Given the description of an element on the screen output the (x, y) to click on. 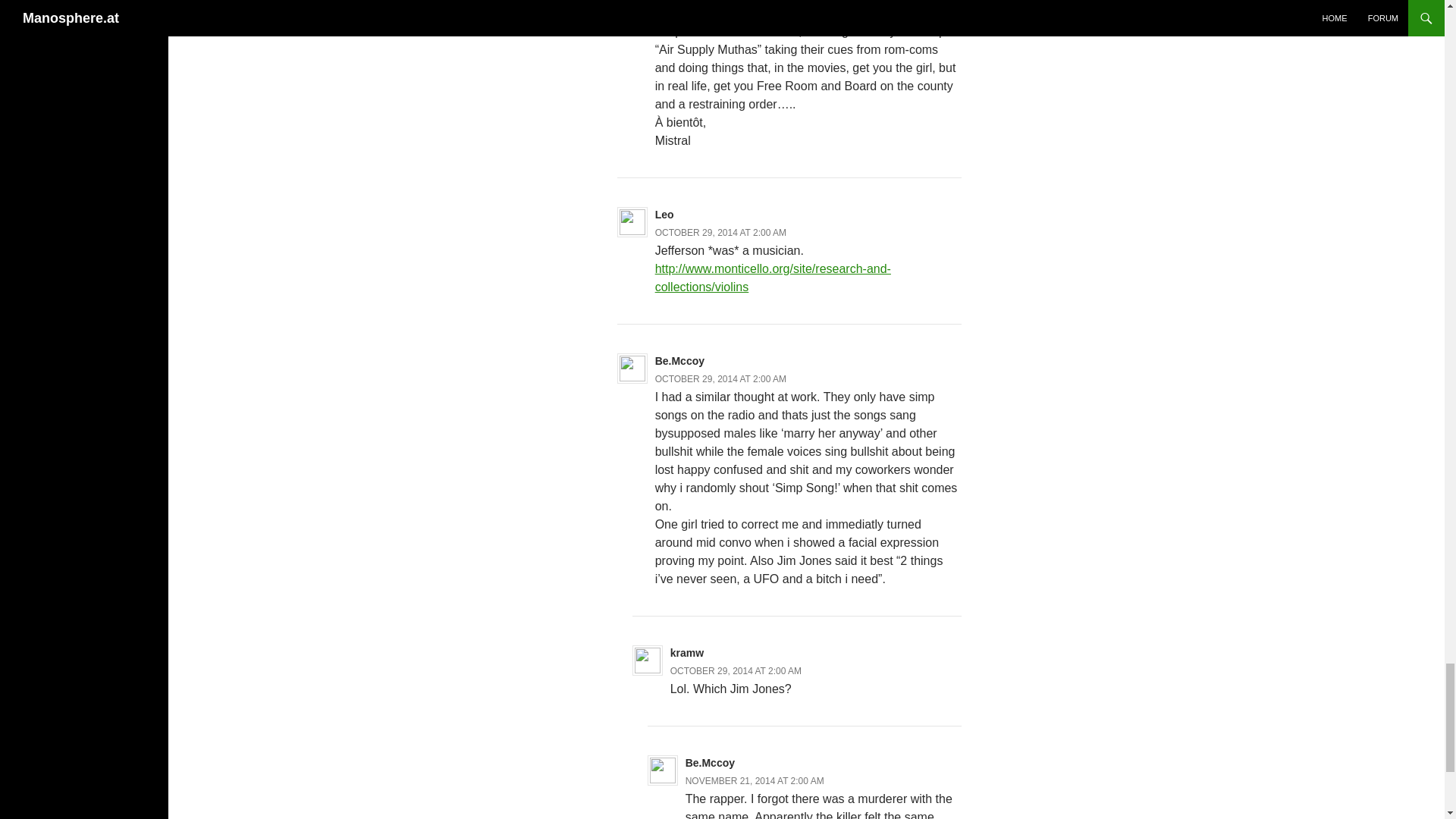
NOVEMBER 21, 2014 AT 2:00 AM (754, 779)
OCTOBER 29, 2014 AT 2:00 AM (735, 670)
OCTOBER 29, 2014 AT 2:00 AM (720, 232)
OCTOBER 29, 2014 AT 2:00 AM (720, 378)
